Given the description of an element on the screen output the (x, y) to click on. 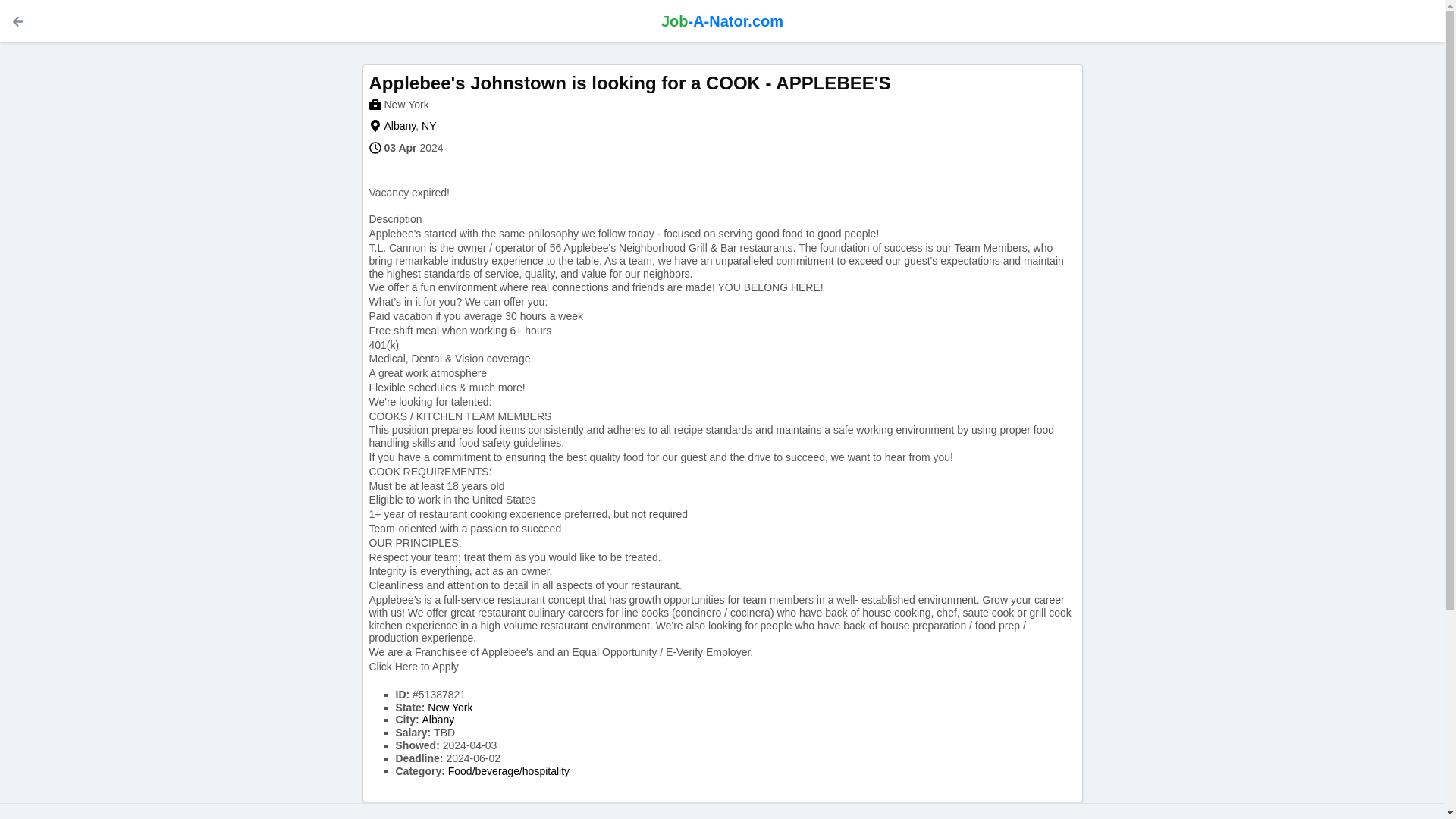
Albany (399, 125)
New York (449, 707)
Albany (438, 719)
Job-A-Nator.com (722, 21)
New York job vacancies (406, 104)
Albany (438, 719)
Albany (399, 125)
New York (449, 707)
NY (428, 125)
New York (406, 104)
